Given the description of an element on the screen output the (x, y) to click on. 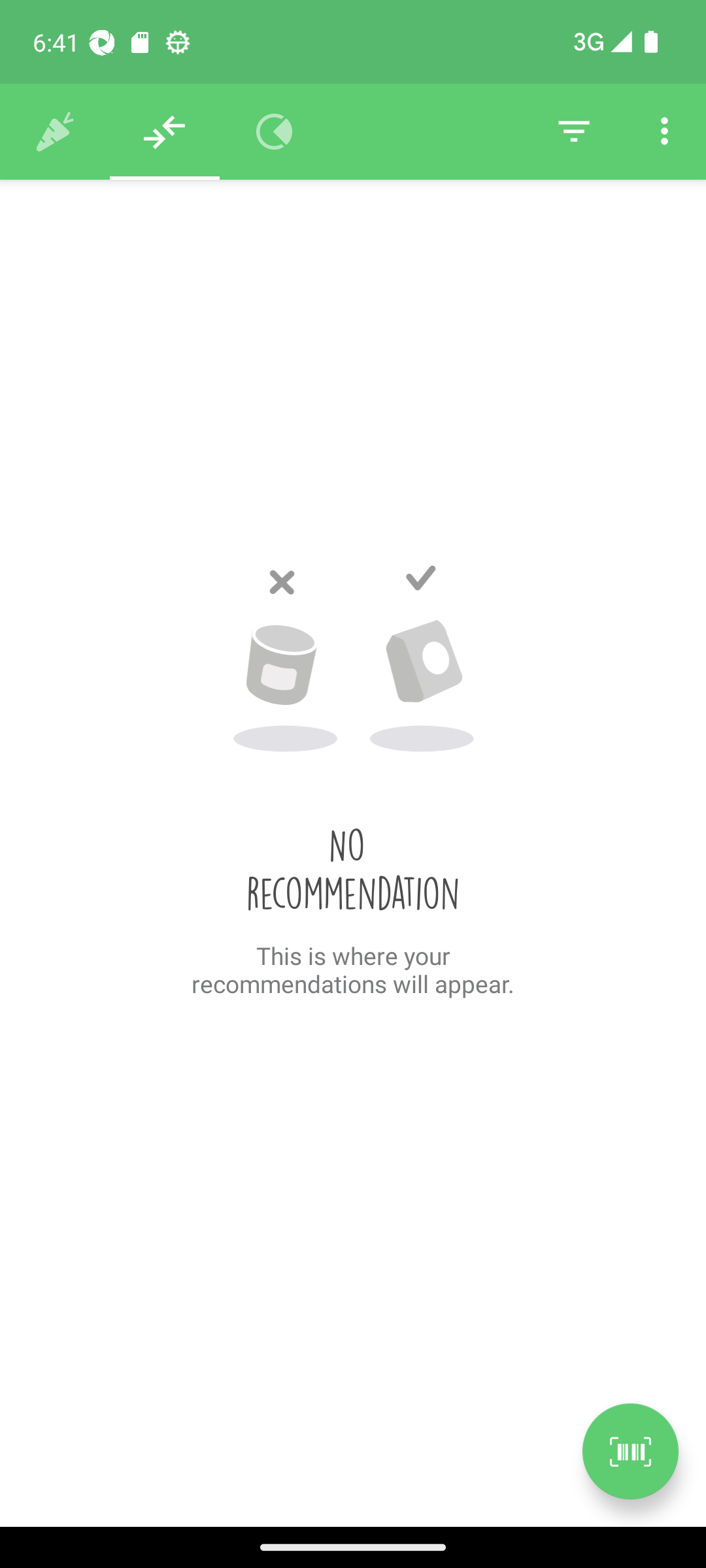
History (55, 131)
Overview (274, 131)
Filter (573, 131)
Settings (664, 131)
Scan a product (630, 1451)
